Given the description of an element on the screen output the (x, y) to click on. 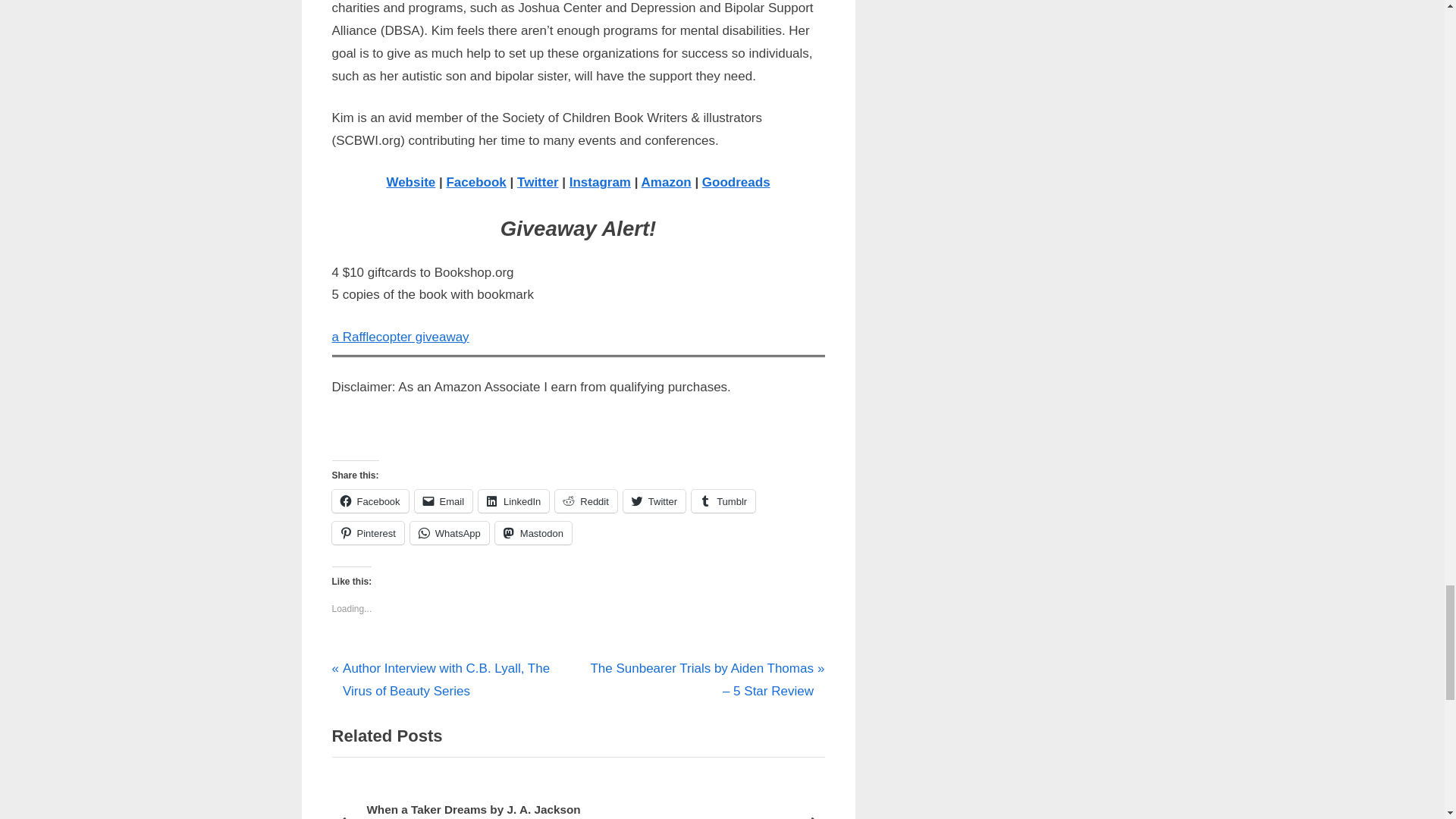
Click to share on Tumblr (723, 500)
Click to share on Pinterest (367, 532)
Click to email a link to a friend (443, 500)
Click to share on Reddit (585, 500)
Click to share on WhatsApp (449, 532)
Click to share on Mastodon (533, 532)
Click to share on LinkedIn (513, 500)
Click to share on Facebook (370, 500)
Click to share on Twitter (654, 500)
